Given the description of an element on the screen output the (x, y) to click on. 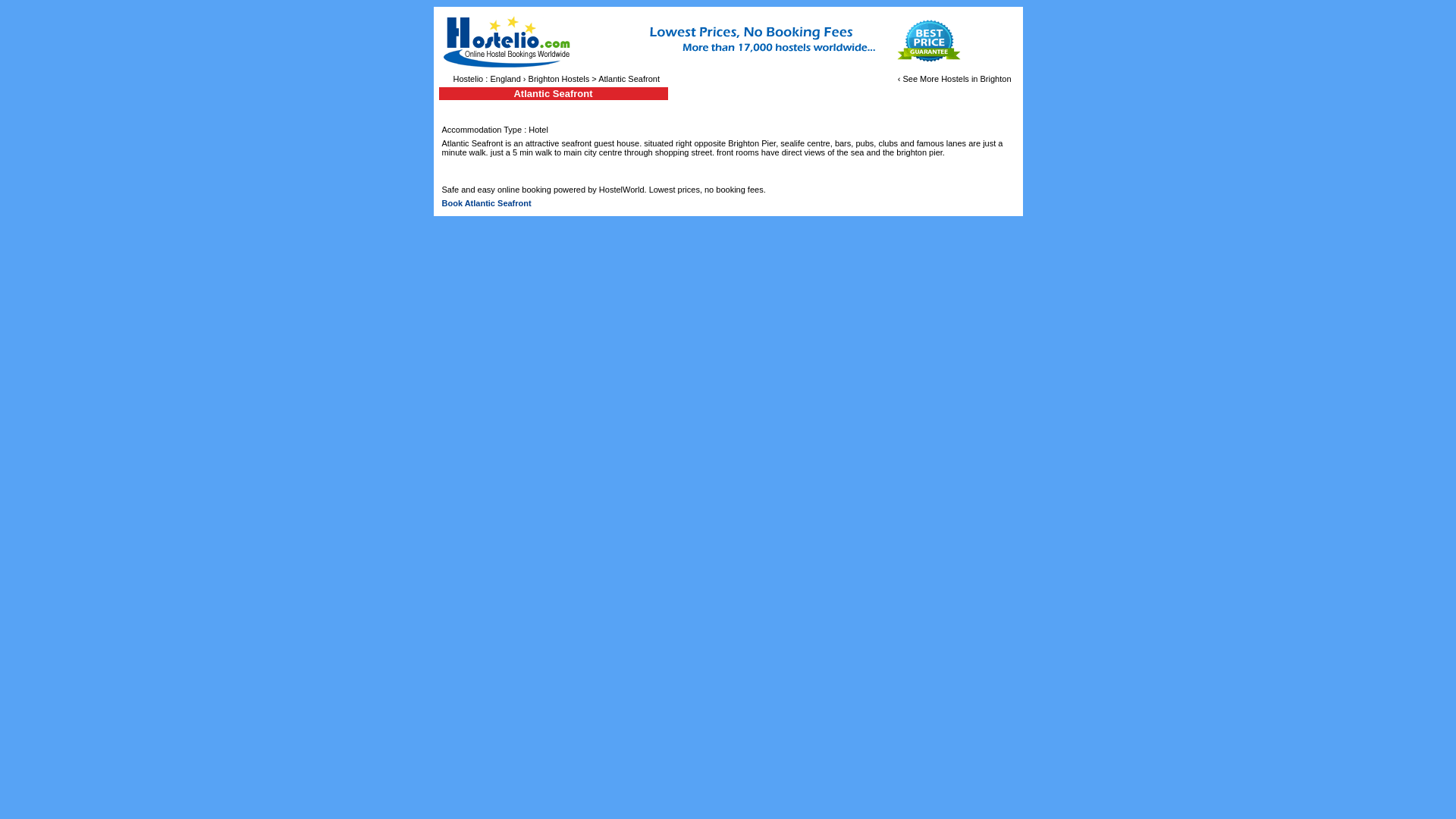
Brighton Hostels (558, 78)
England (504, 78)
Hostels in Brighton (975, 78)
